Given the description of an element on the screen output the (x, y) to click on. 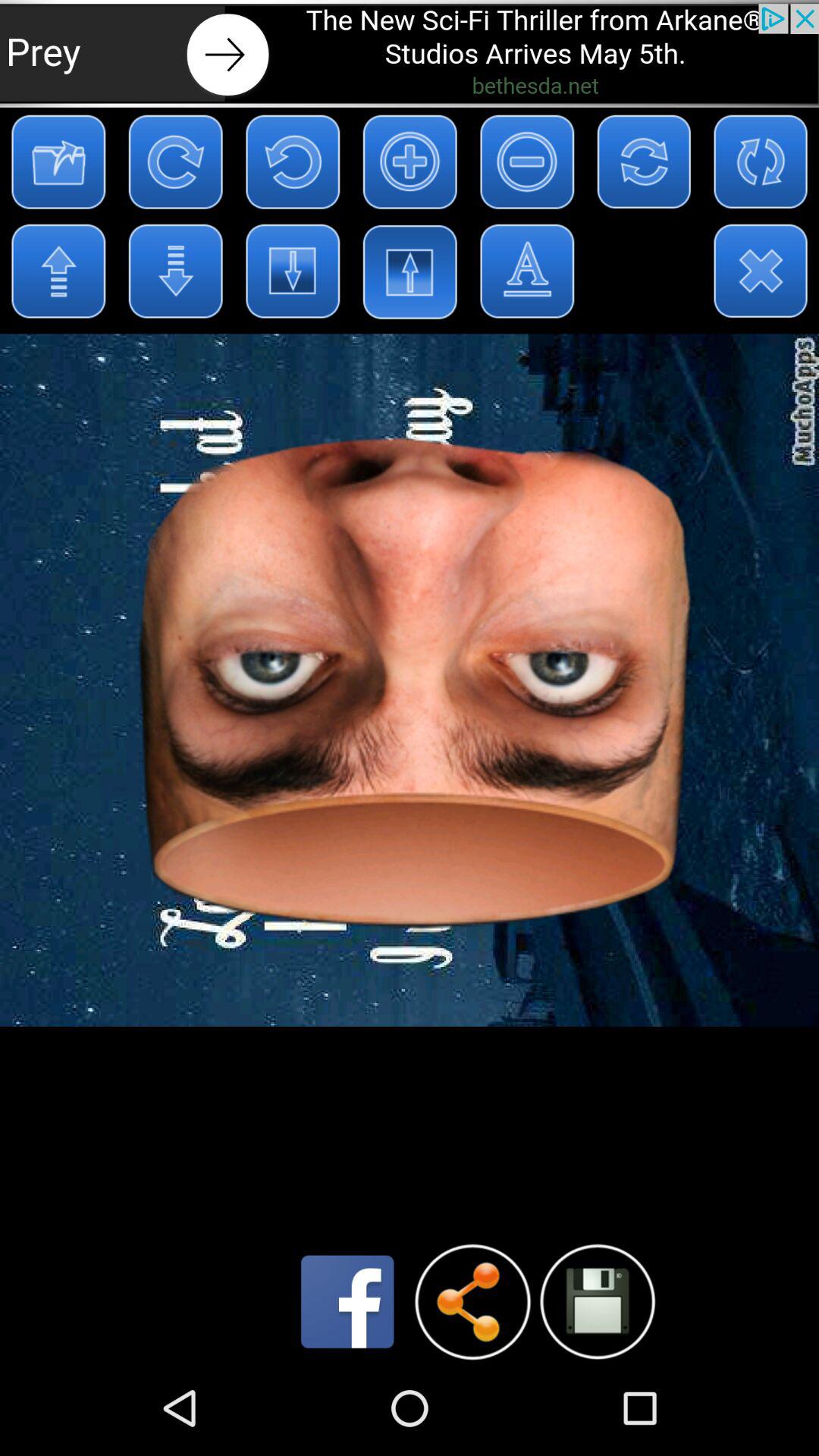
facebook widget (347, 1301)
